Given the description of an element on the screen output the (x, y) to click on. 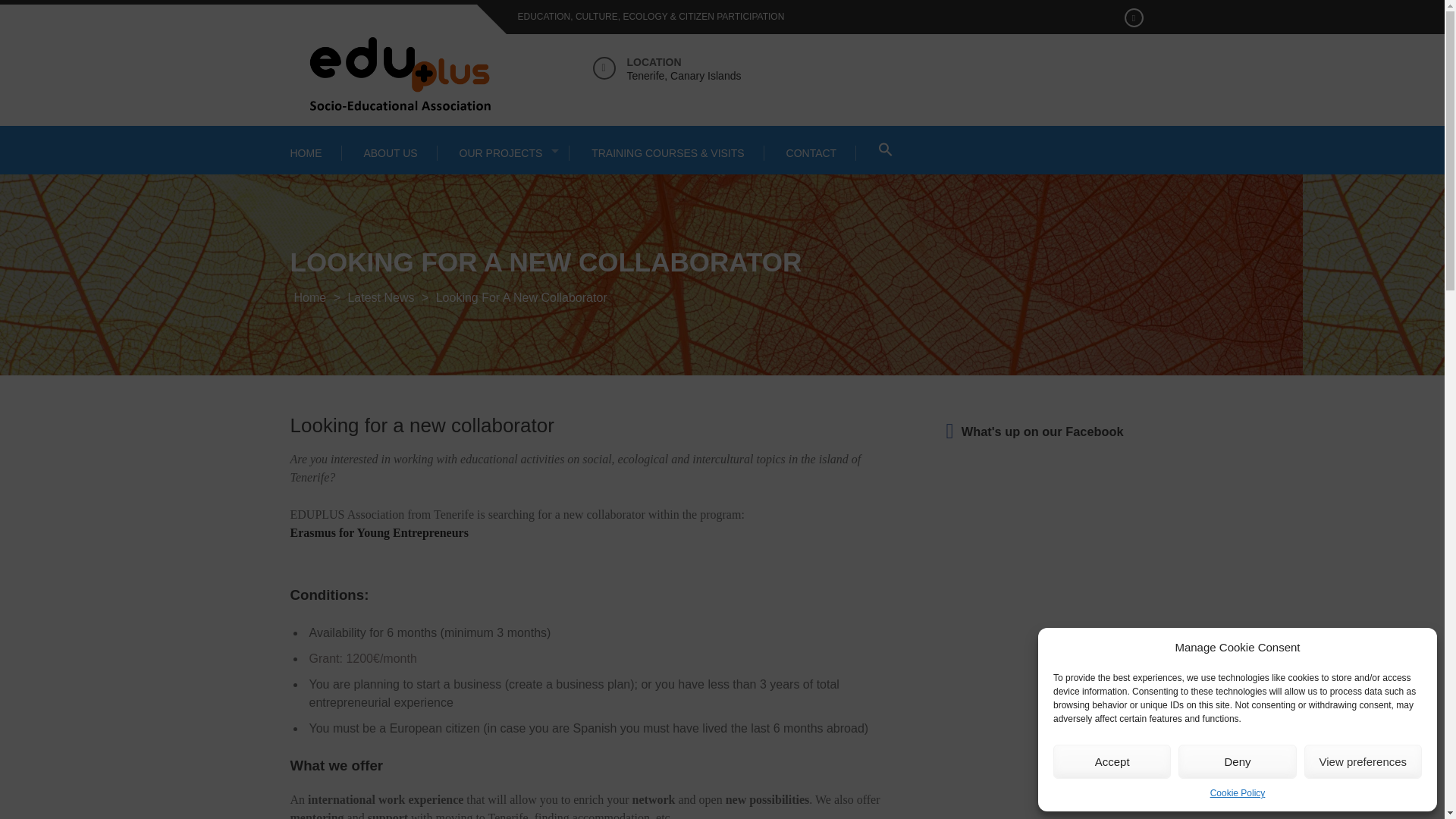
Accept (1111, 761)
Deny (1236, 761)
View preferences (1363, 761)
Cookie Policy (1237, 793)
Likebox Iframe (1046, 809)
CONTACT (812, 152)
HOME (314, 152)
Erasmus for Young Entrepreneurs (378, 532)
OUR PROJECTS (505, 152)
ABOUT US (389, 152)
Home (309, 297)
Latest News (380, 297)
